Given the description of an element on the screen output the (x, y) to click on. 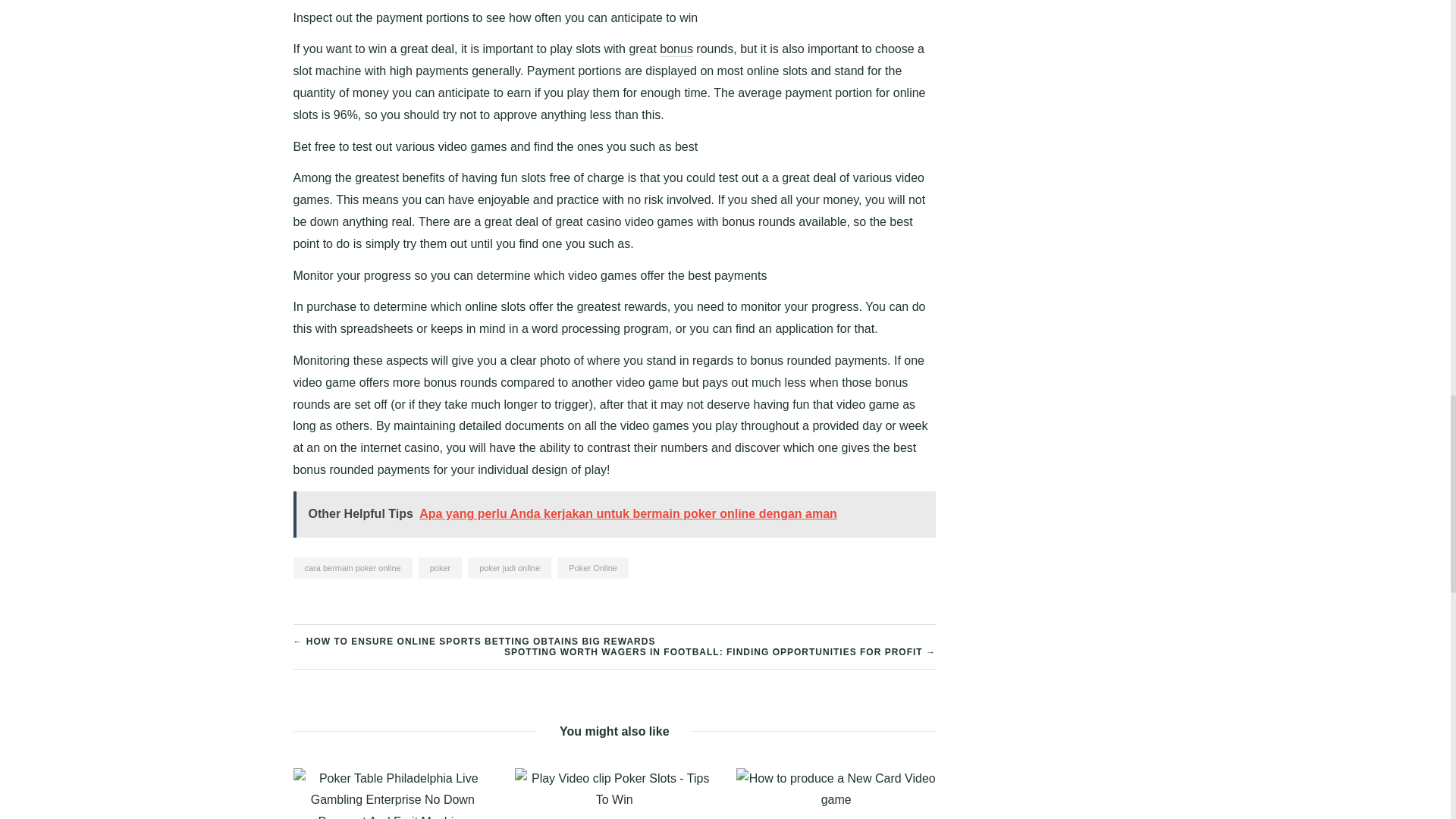
poker (441, 567)
poker judi online (509, 567)
cara bermain poker online (352, 567)
bonus (676, 49)
Poker Online (592, 567)
How to produce a New Card Video game (835, 788)
